Given the description of an element on the screen output the (x, y) to click on. 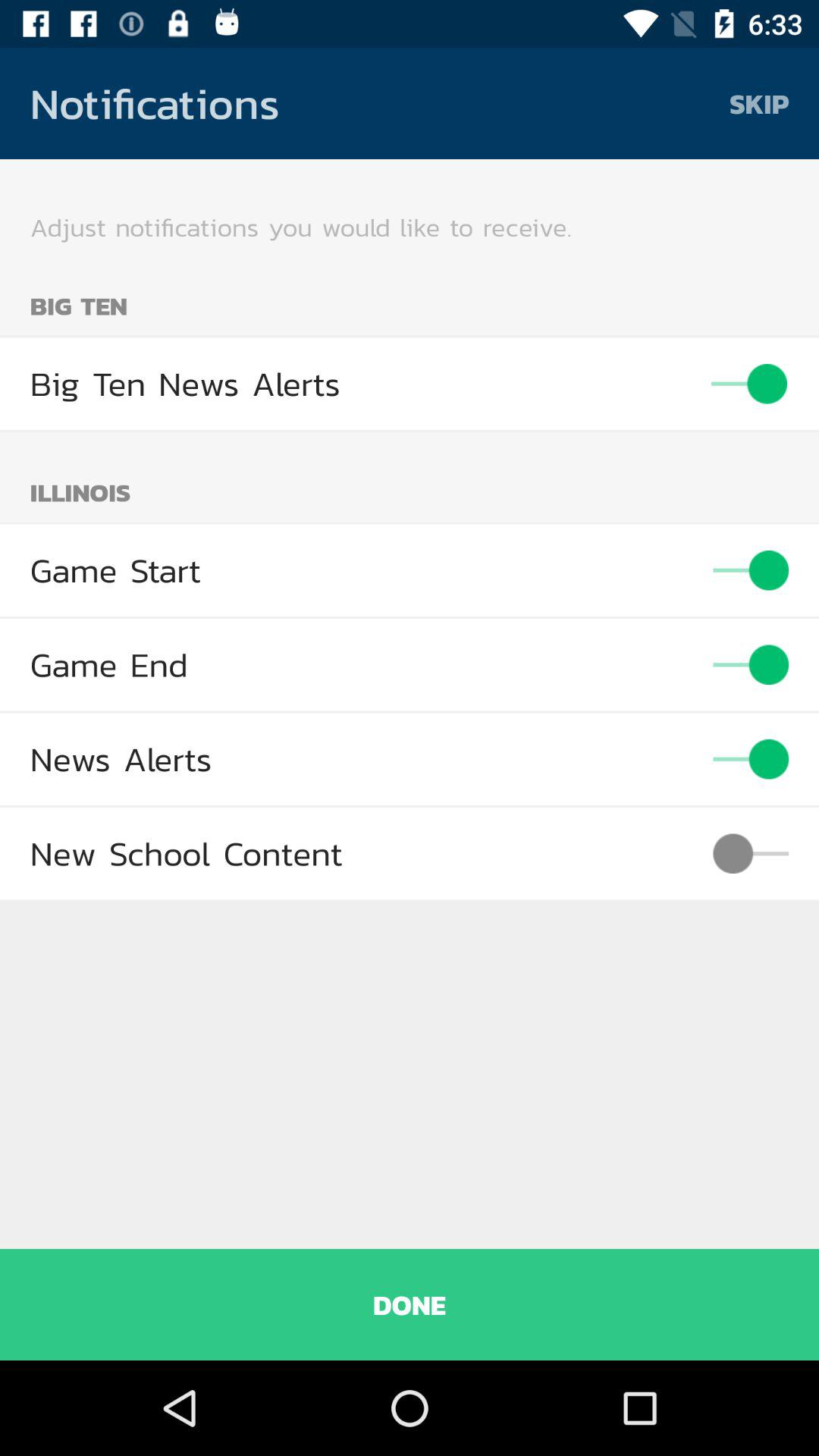
swipe until the skip icon (758, 103)
